Given the description of an element on the screen output the (x, y) to click on. 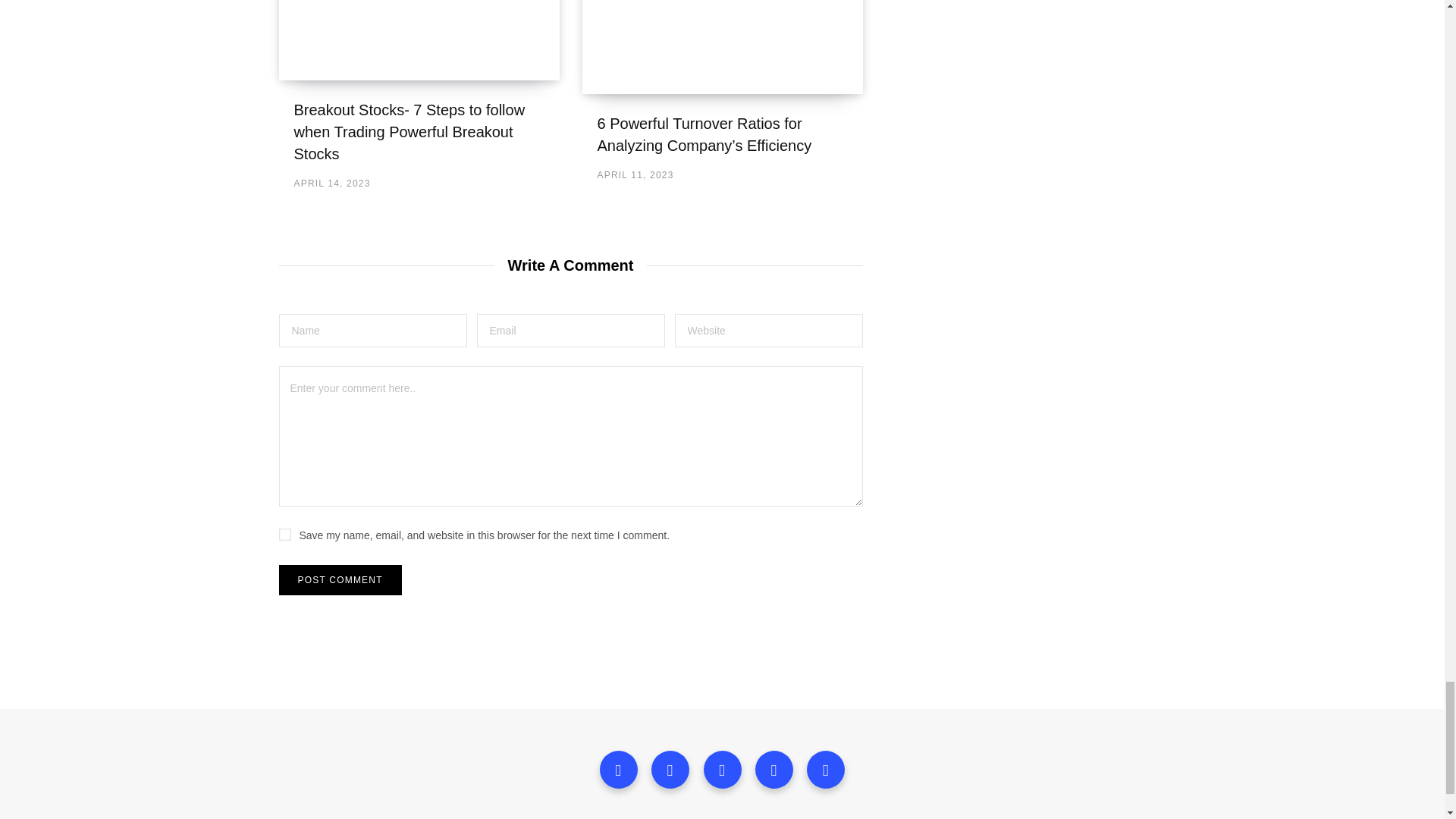
Post Comment (340, 580)
Post Comment (340, 580)
yes (285, 534)
